Given the description of an element on the screen output the (x, y) to click on. 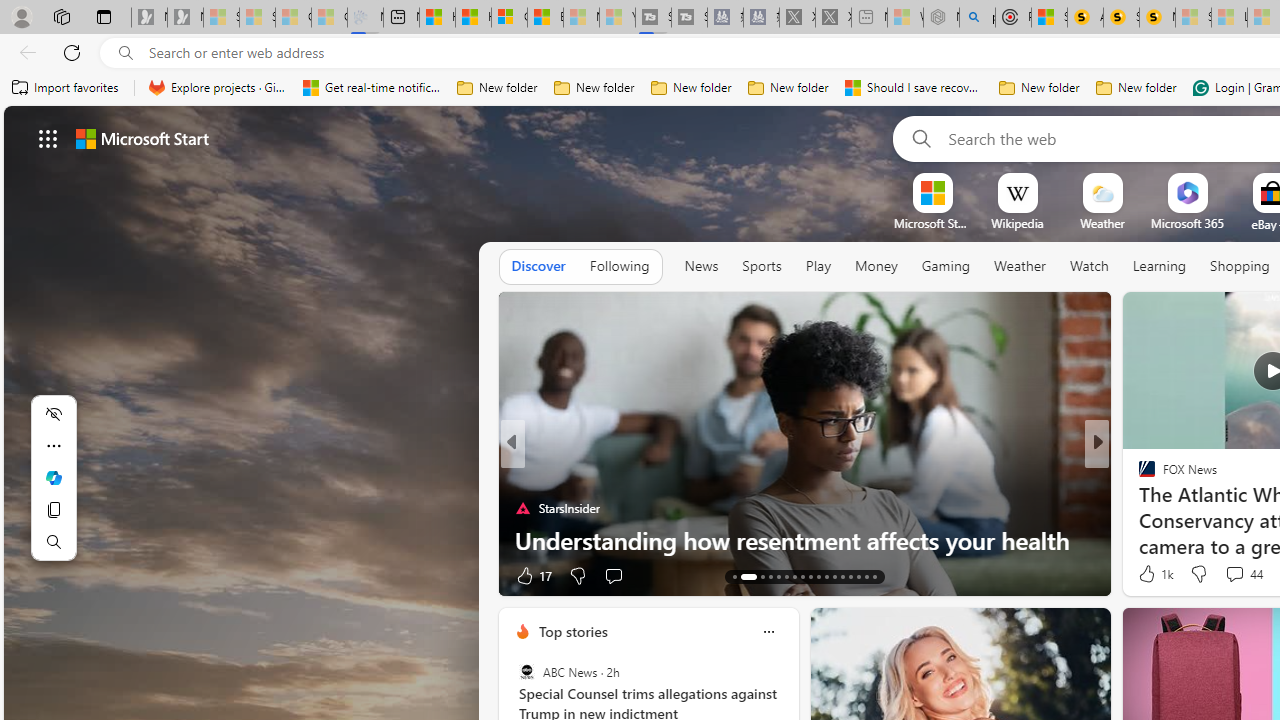
Gaming (945, 265)
33 Like (1149, 574)
View comments 44 Comment (1234, 573)
AutomationID: tab-21 (810, 576)
AutomationID: tab-25 (842, 576)
News (701, 267)
News (701, 265)
Import favorites (65, 88)
Watch (1089, 265)
View comments 4 Comment (1234, 574)
INSIDER (1138, 475)
